Given the description of an element on the screen output the (x, y) to click on. 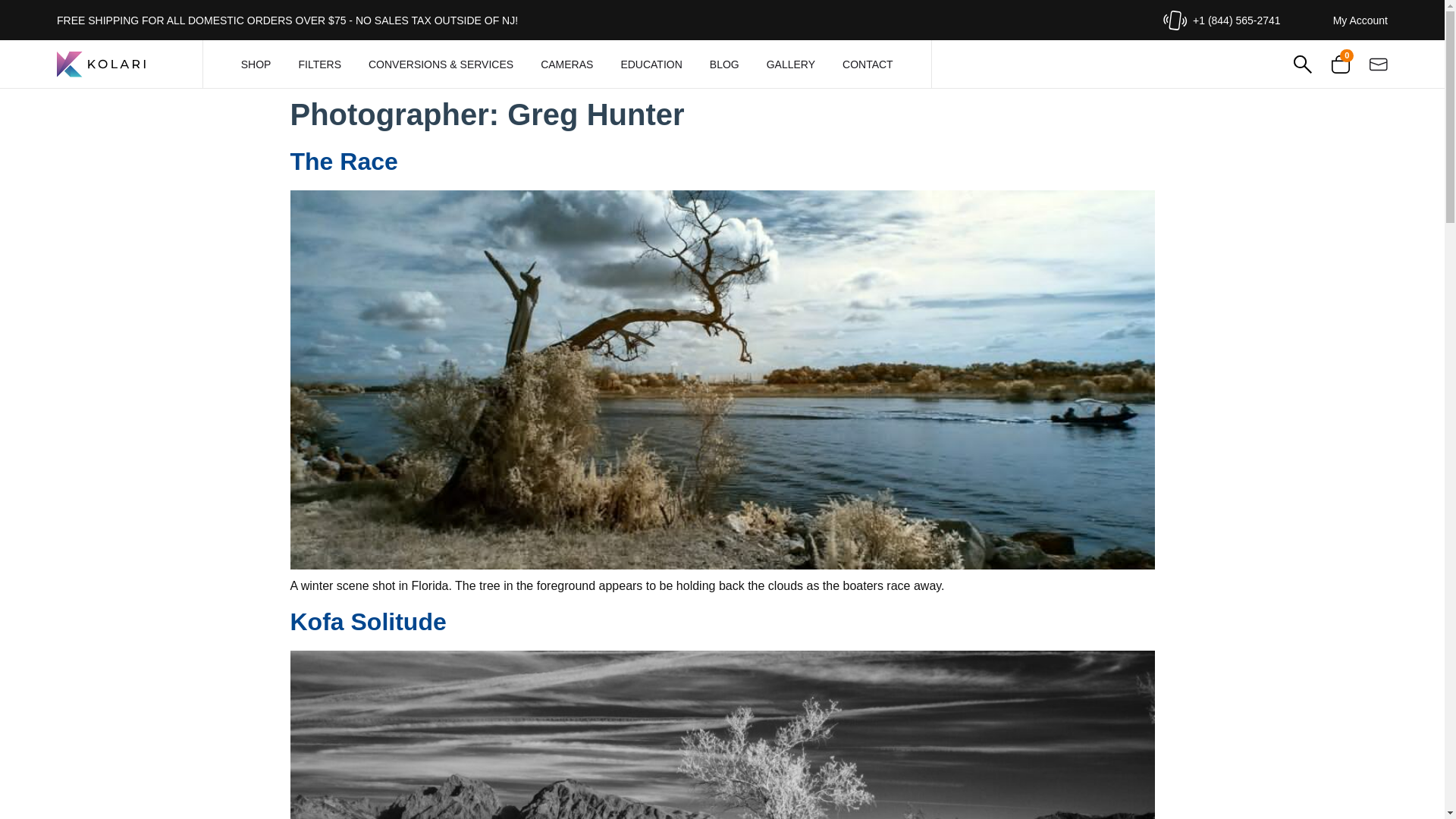
GALLERY (791, 63)
Kofa Solitude (367, 621)
Filters (319, 63)
The Race (343, 161)
CONTACT (868, 63)
My Account (1360, 19)
Education (650, 63)
0 (1340, 63)
EDUCATION (650, 63)
FILTERS (319, 63)
